Given the description of an element on the screen output the (x, y) to click on. 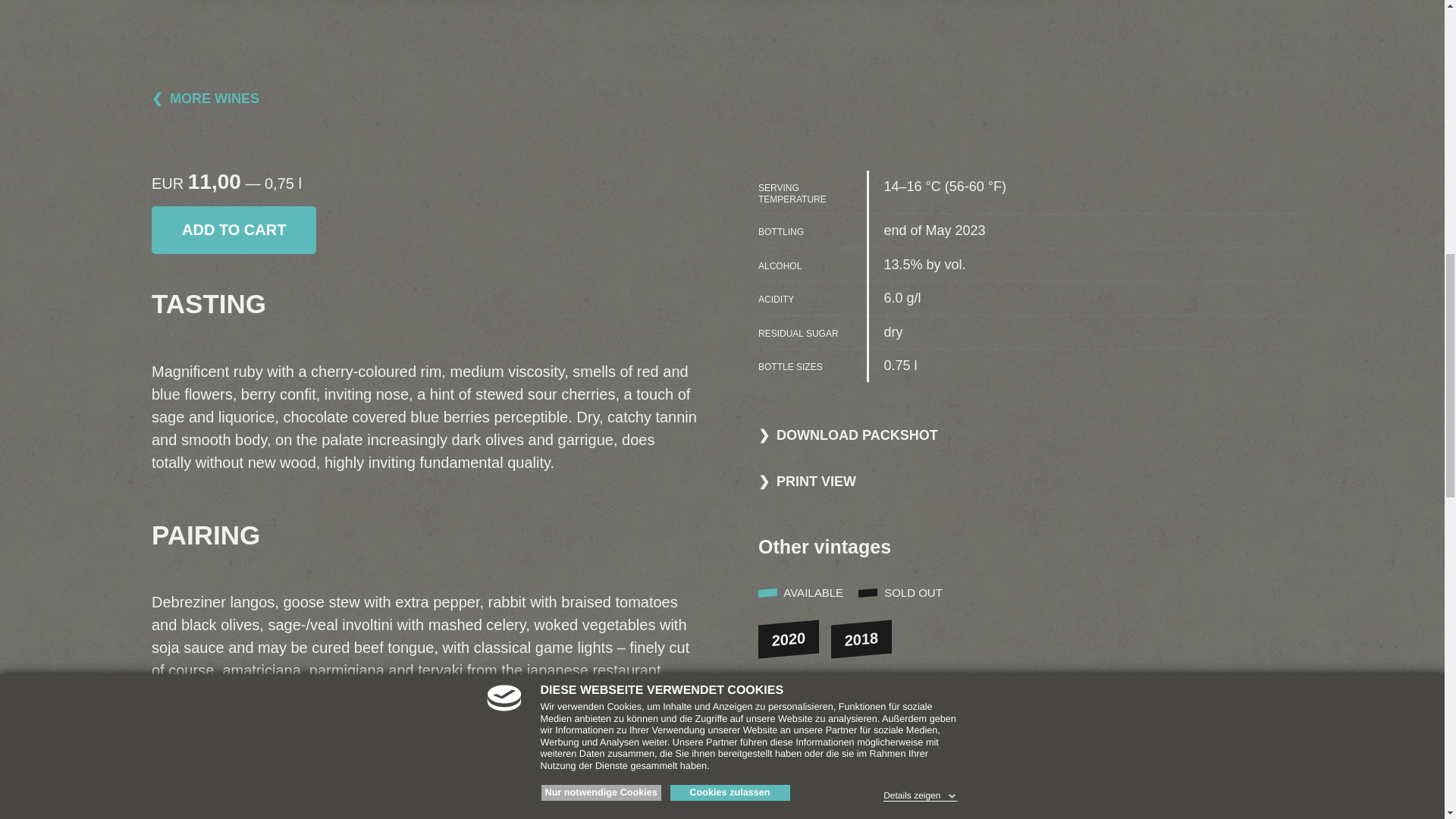
MORE WINES (205, 98)
ADD TO CART (233, 229)
DOWNLOAD PACKSHOT (847, 435)
